Given the description of an element on the screen output the (x, y) to click on. 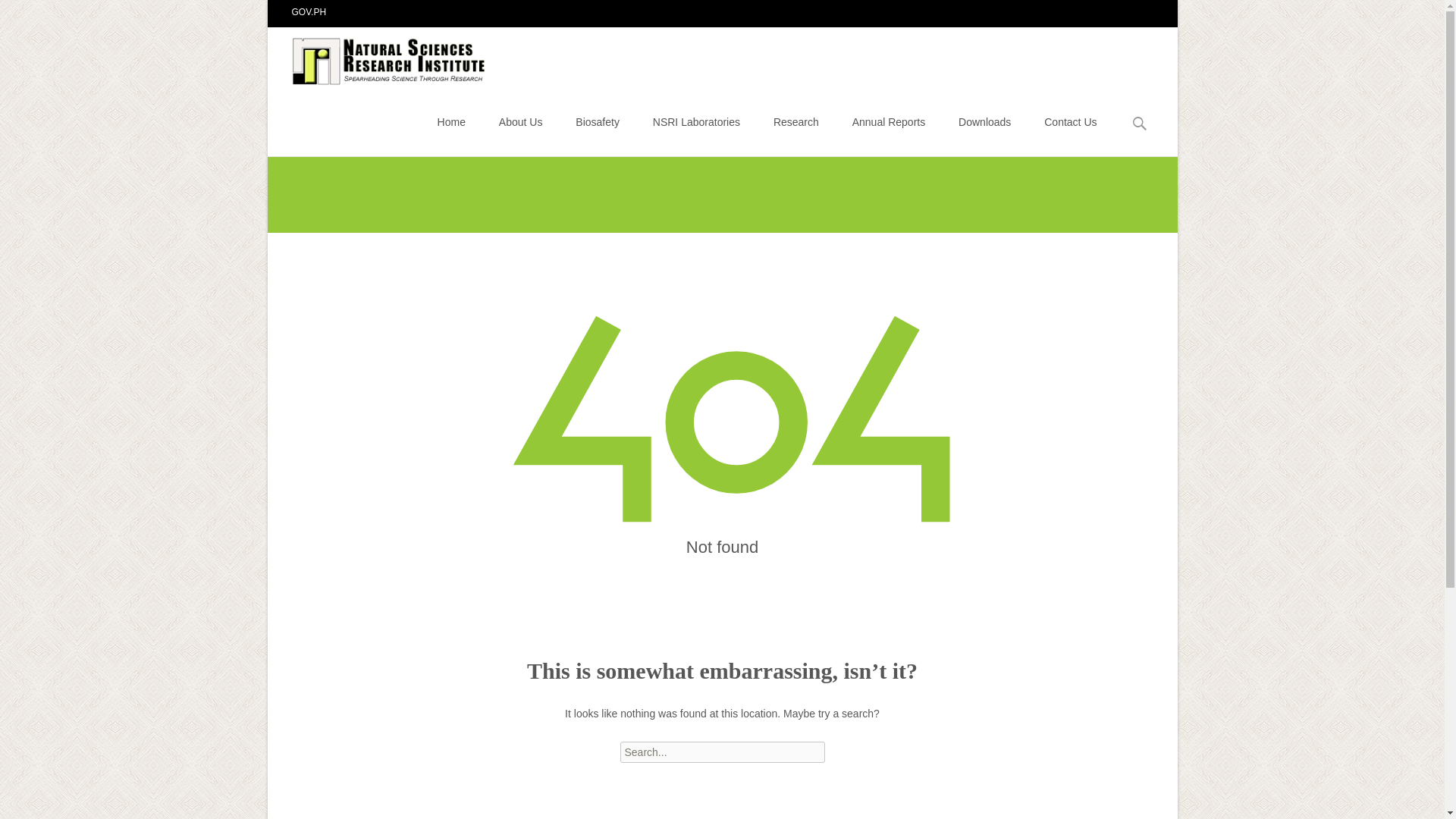
Annual Reports (888, 121)
Search for: (722, 752)
NSRI Laboratories (695, 121)
GOV.PH (308, 11)
Search for: (1139, 123)
Natural Sciences Research Institute (378, 57)
Search (18, 14)
Search (34, 14)
